Given the description of an element on the screen output the (x, y) to click on. 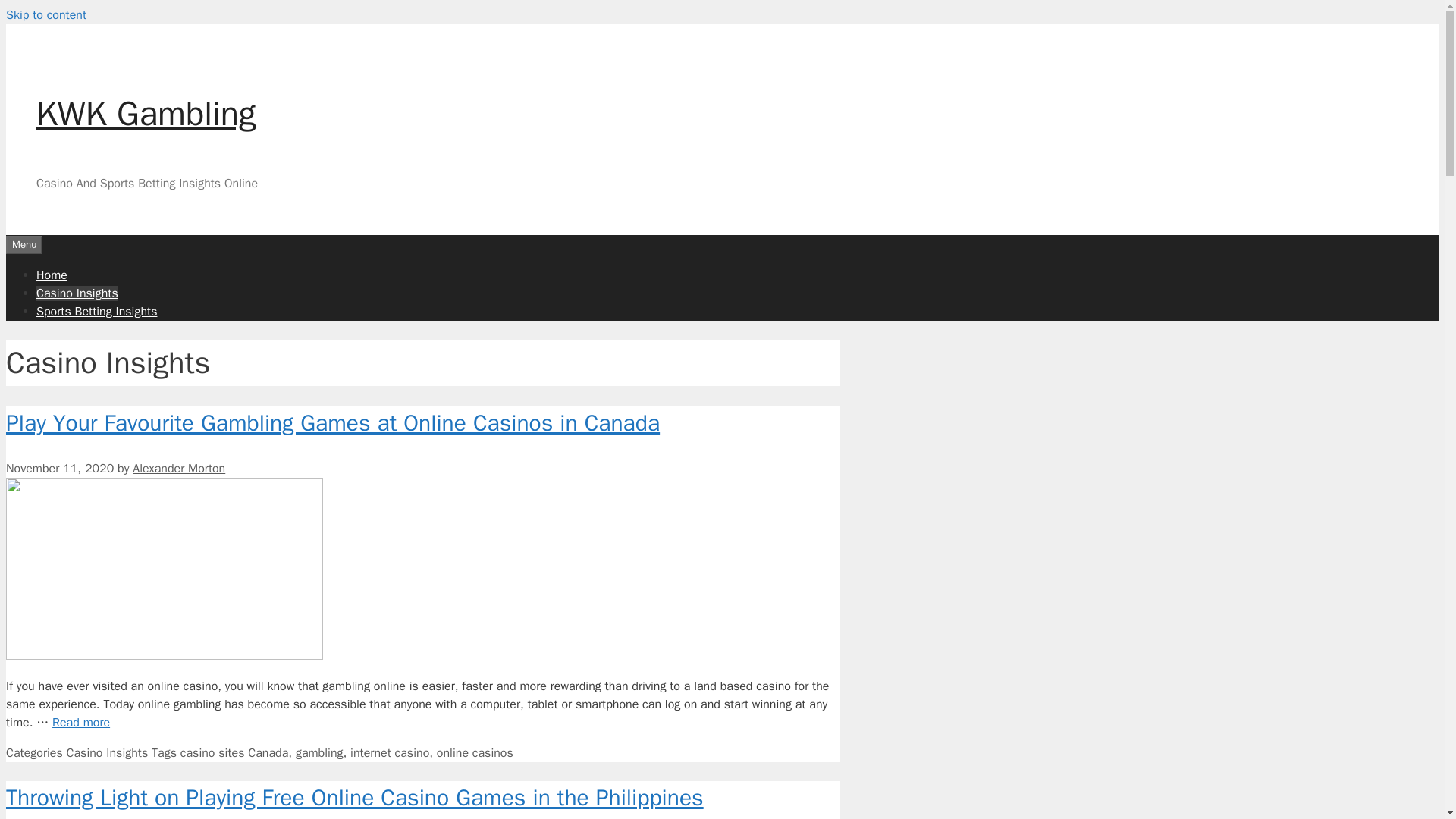
Menu (23, 244)
casino sites Canada (234, 752)
Read more (81, 722)
Home (51, 273)
Sports Betting Insights (96, 310)
gambling (319, 752)
Alexander Morton (178, 468)
online casinos (474, 752)
Skip to content (45, 14)
View all posts by Alexander Morton (178, 468)
internet casino (389, 752)
KWK Gambling (146, 113)
